Given the description of an element on the screen output the (x, y) to click on. 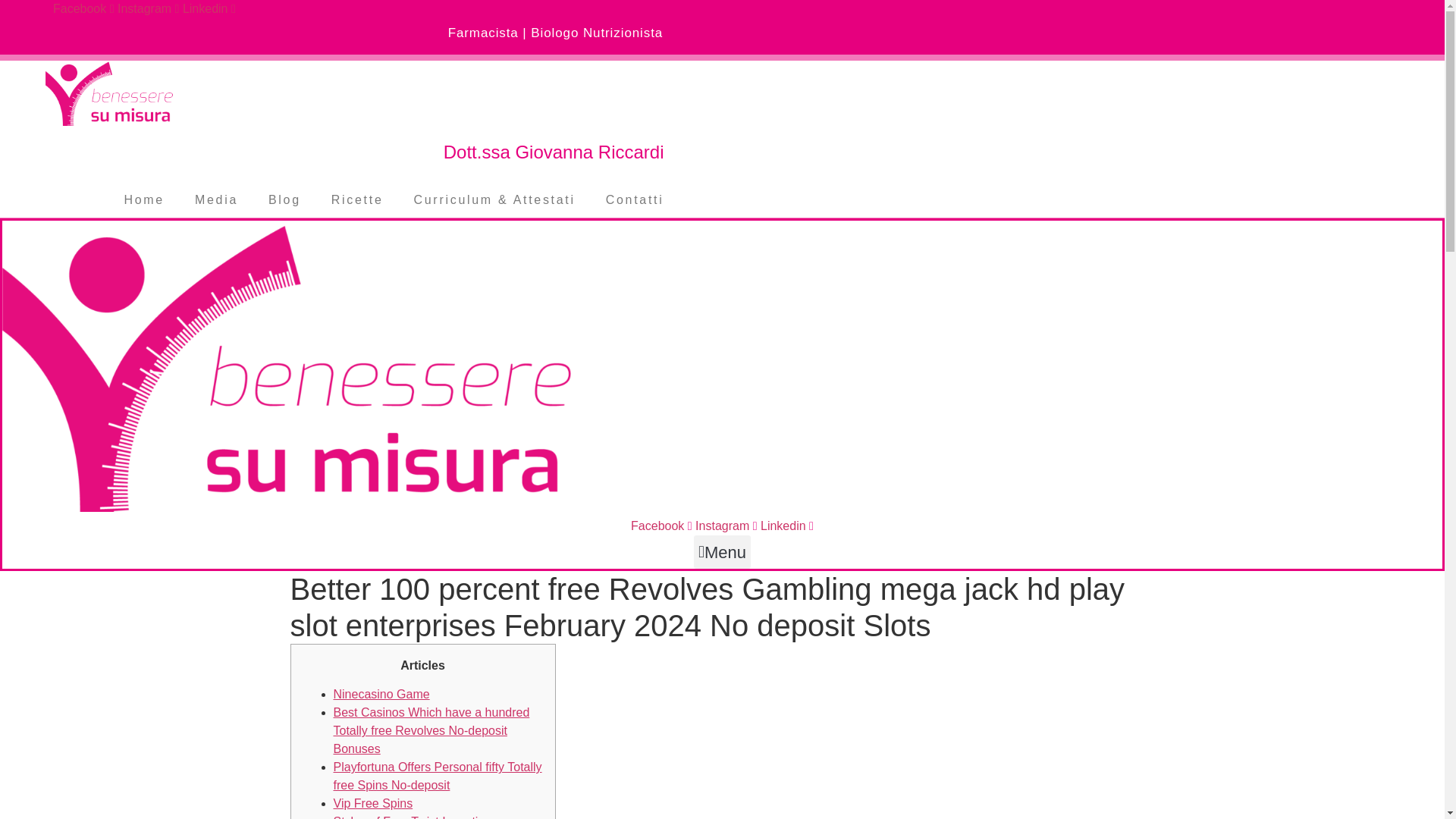
Styles of Free Twist Incentives (415, 816)
Home (143, 199)
Instagram (727, 525)
Ninecasino Game (381, 694)
Contatti (635, 199)
Facebook (84, 8)
Vip Free Spins (373, 802)
Ricette (356, 199)
Linkedin (209, 8)
Instagram (150, 8)
Blog (284, 199)
Media (216, 199)
Linkedin (786, 525)
